Given the description of an element on the screen output the (x, y) to click on. 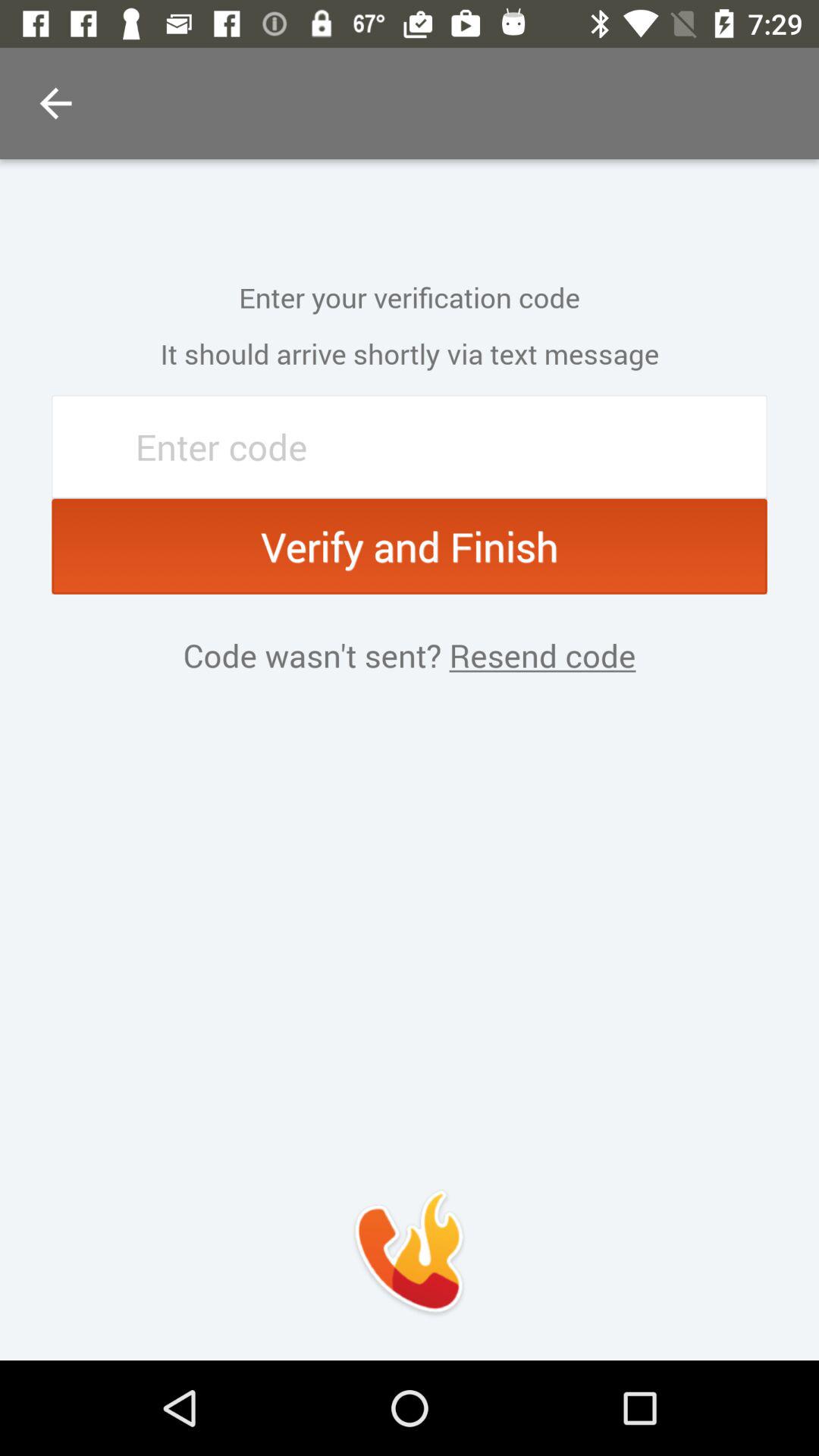
click item next to code wasn t (538, 655)
